Given the description of an element on the screen output the (x, y) to click on. 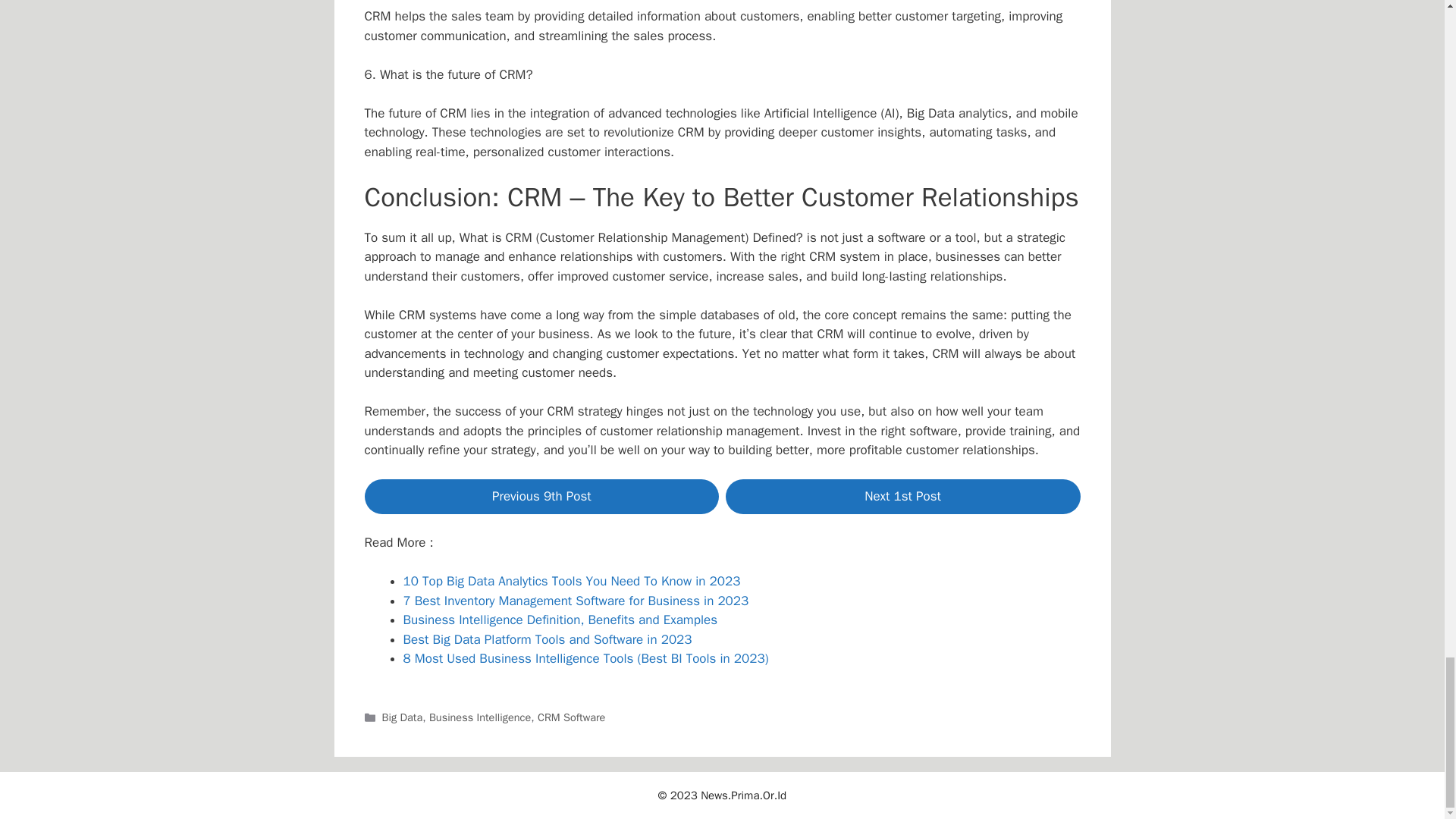
7 Best Inventory Management Software for Business in 2023 (576, 600)
Business Intelligence Definition, Benefits and Examples (560, 619)
Big Data (402, 716)
Next 1st Post (902, 496)
Business Intelligence (480, 716)
CRM Software (571, 716)
Best Big Data Platform Tools and Software in 2023 (548, 639)
10 Top Big Data Analytics Tools You Need To Know in 2023 (572, 580)
Previous 9th Post (541, 496)
